Given the description of an element on the screen output the (x, y) to click on. 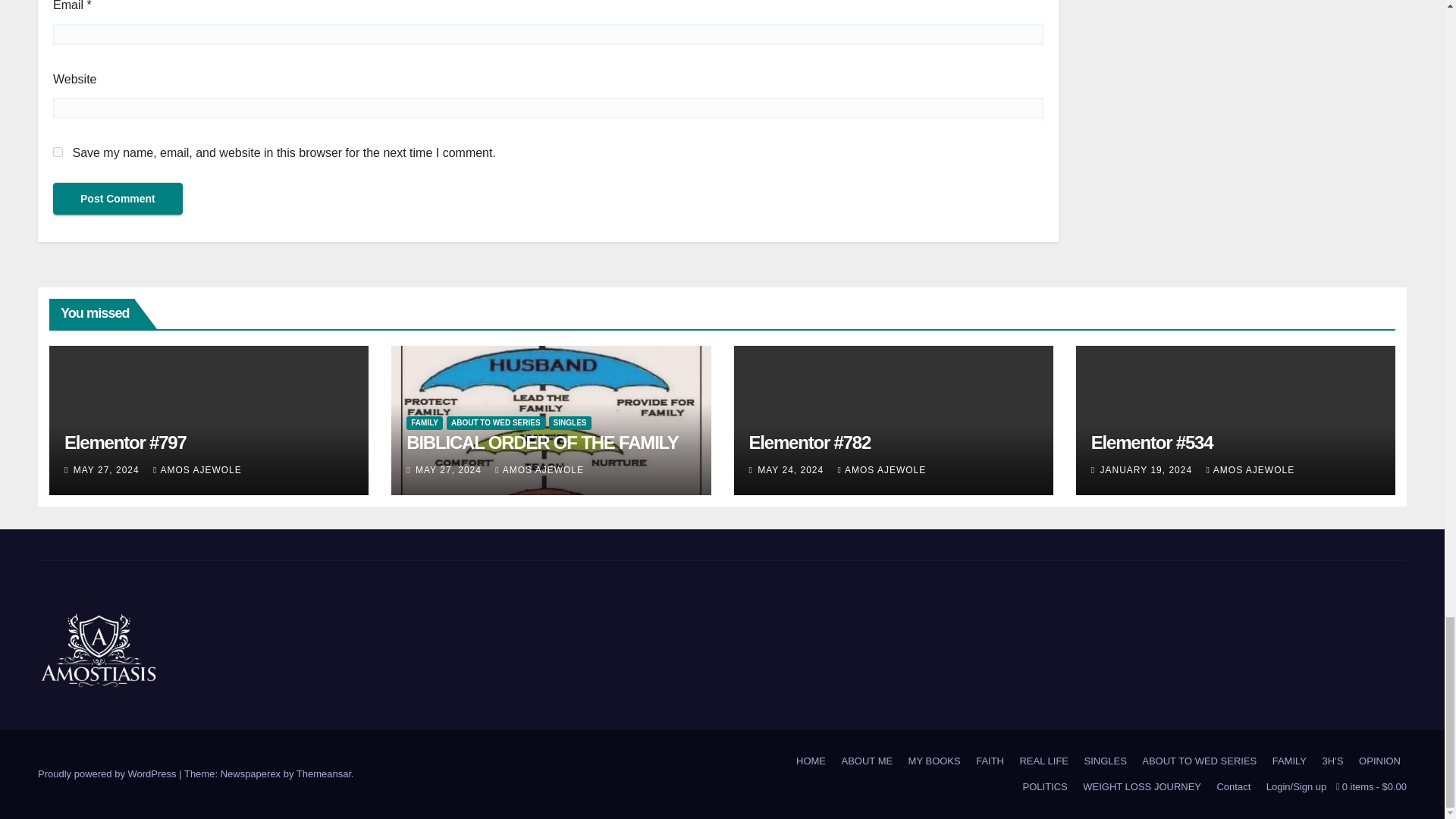
yes (57, 152)
Post Comment (117, 198)
